Given the description of an element on the screen output the (x, y) to click on. 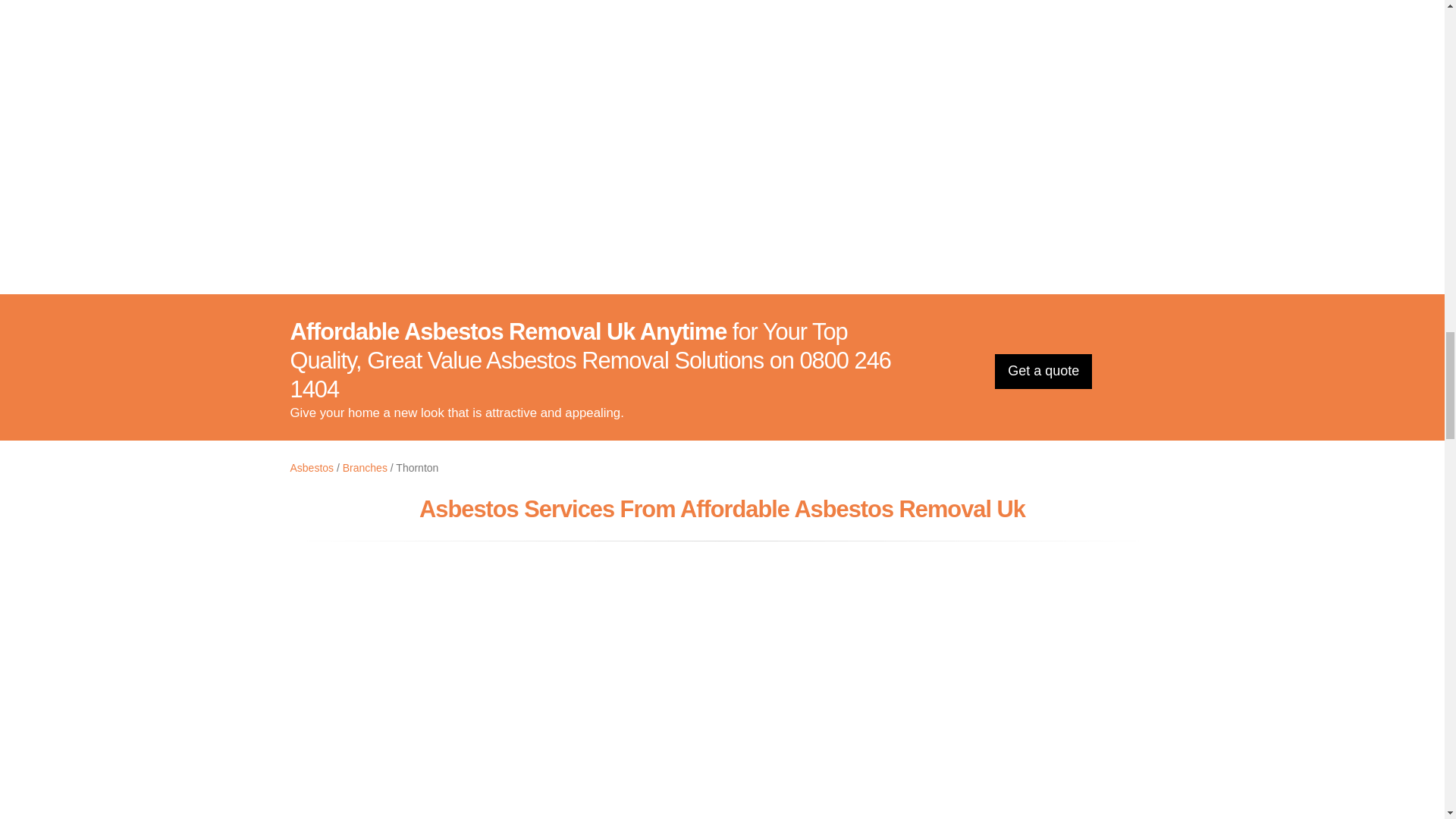
Get a quote (1043, 371)
Asbestos Disposal UK United Kingdom (721, 124)
Asbestos (311, 467)
Branches (364, 467)
